Given the description of an element on the screen output the (x, y) to click on. 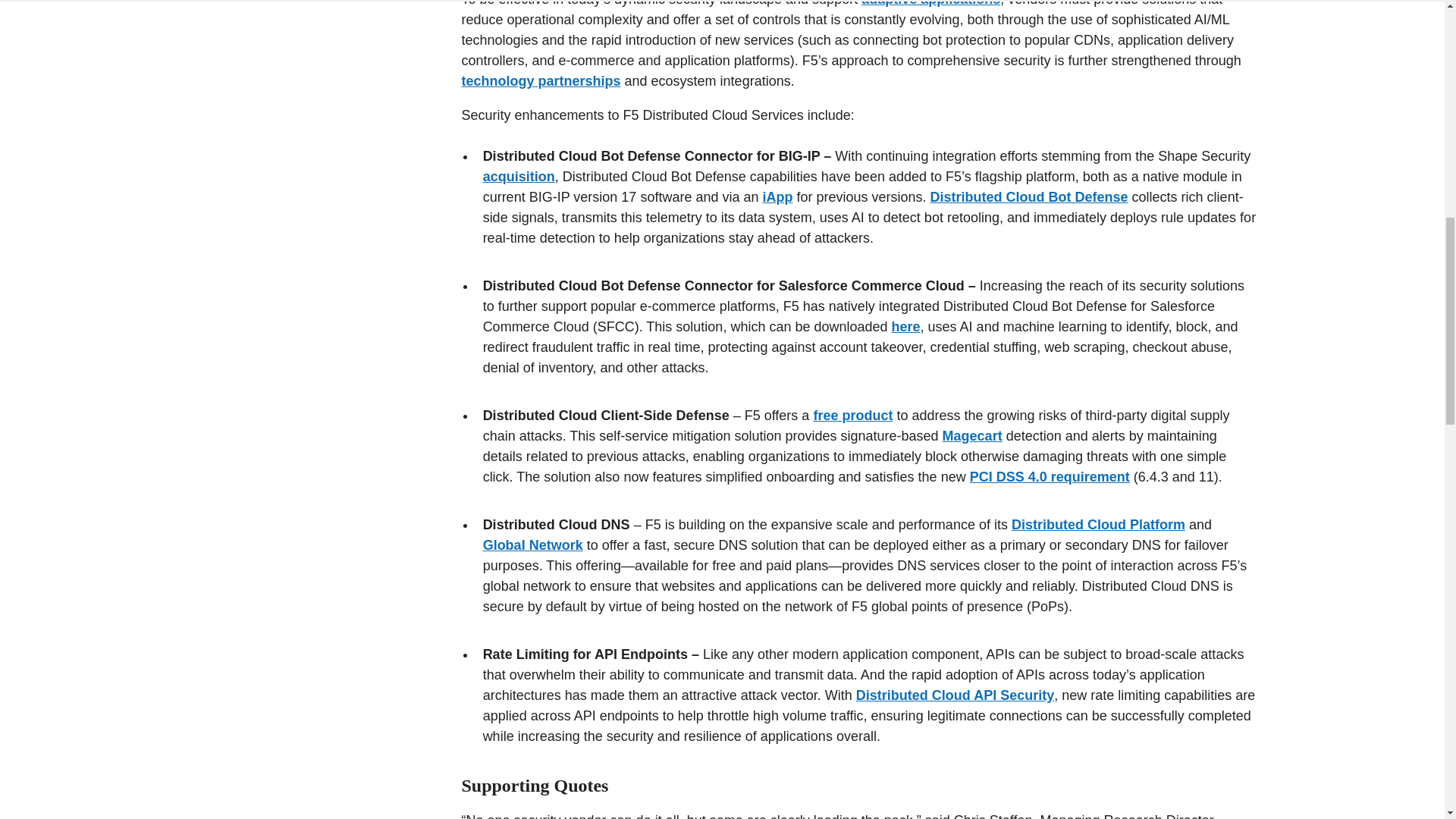
free product (852, 415)
acquisition (518, 176)
Distributed Cloud API Security (955, 694)
PCI DSS 4.0 requirement (1049, 476)
technology partnerships (540, 80)
iApp (776, 196)
Distributed Cloud Bot Defense (1029, 196)
Magecart (972, 435)
here (905, 326)
Global Network (533, 544)
